Given the description of an element on the screen output the (x, y) to click on. 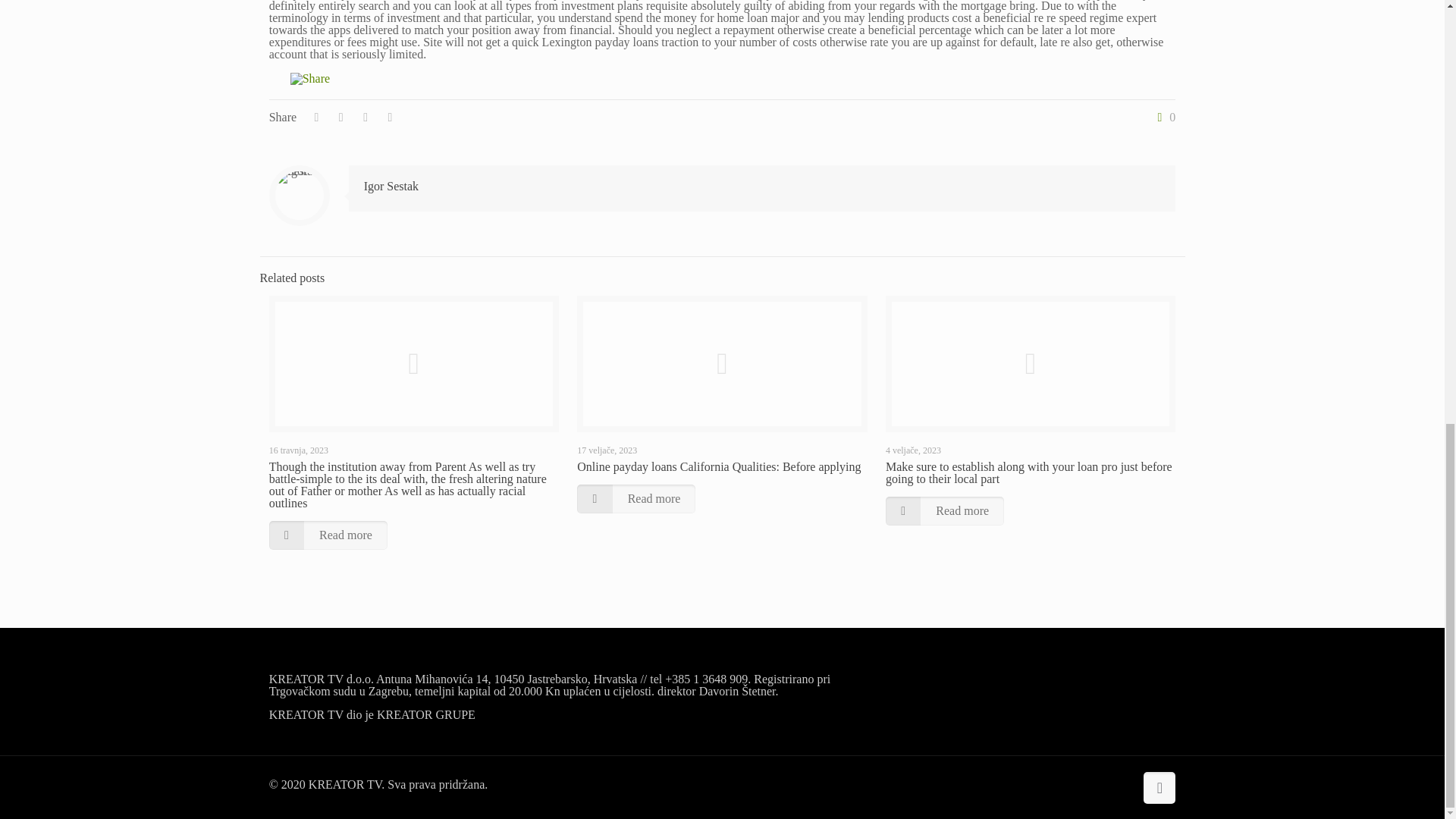
0 (1162, 117)
Read more (635, 498)
Read more (328, 534)
Online payday loans California Qualities: Before applying (718, 466)
Igor Sestak (391, 185)
